Given the description of an element on the screen output the (x, y) to click on. 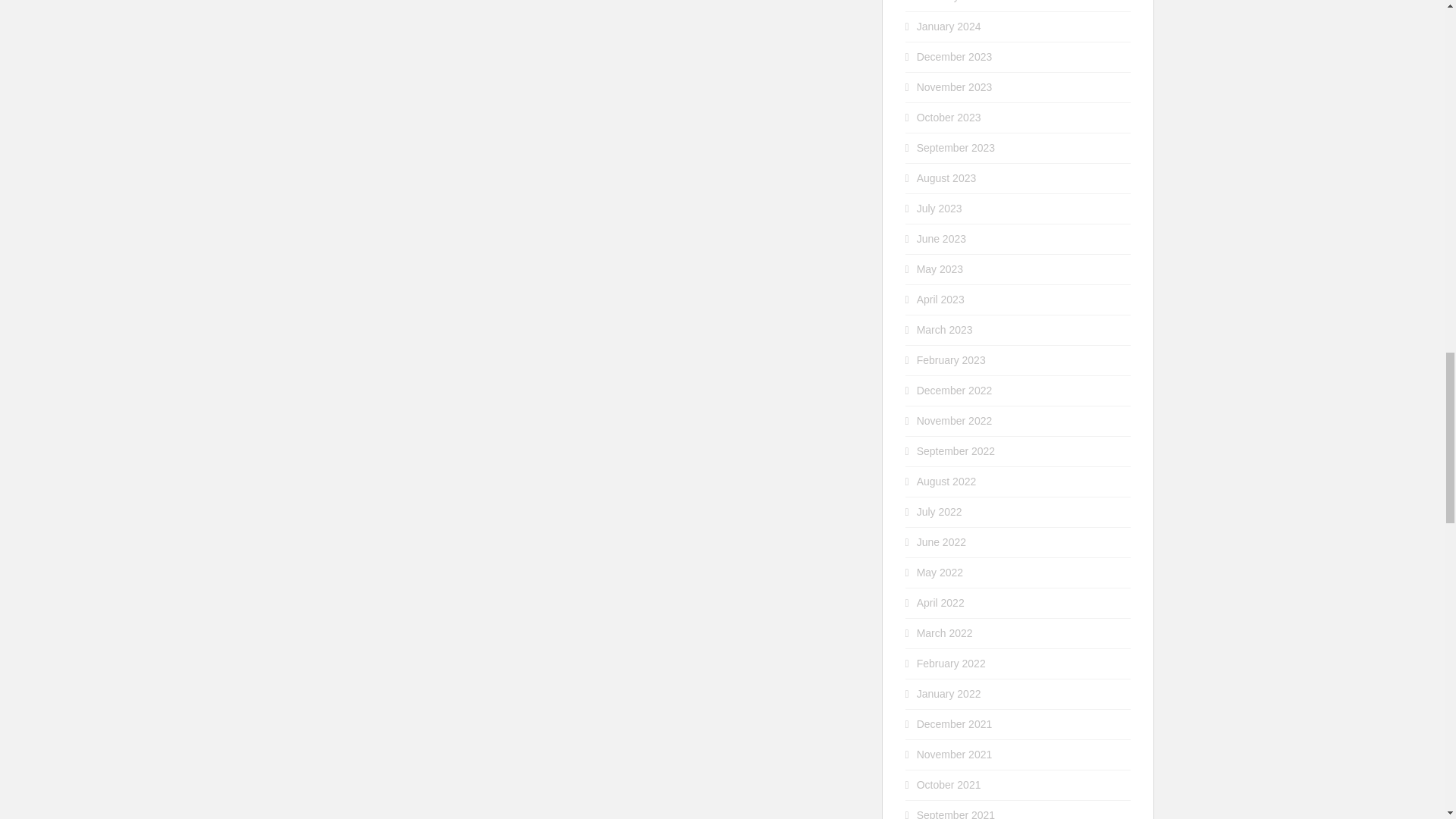
November 2023 (954, 87)
February 2024 (951, 1)
January 2024 (949, 26)
December 2023 (954, 56)
